Given the description of an element on the screen output the (x, y) to click on. 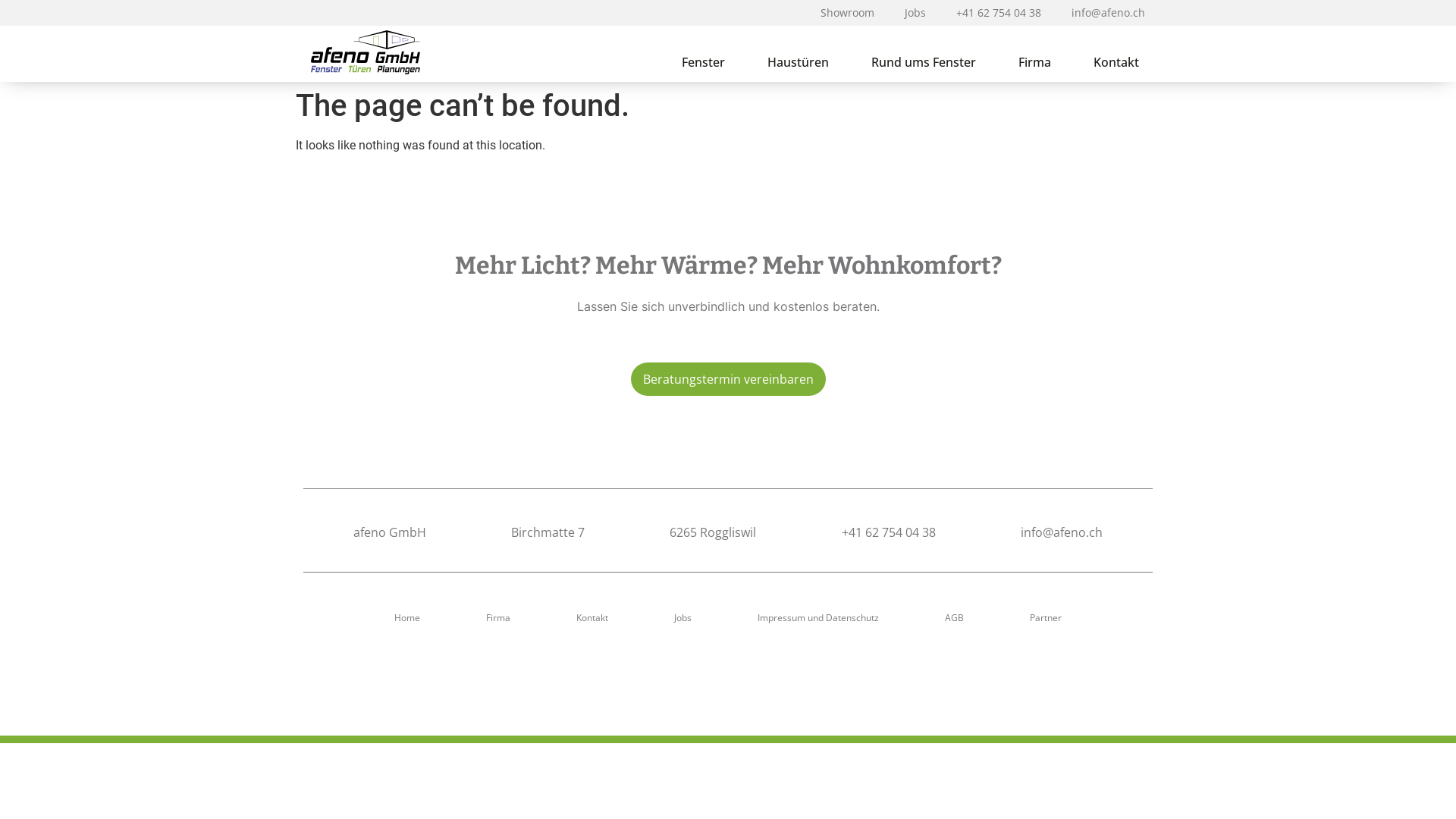
Fenster Element type: text (703, 61)
+41 62 754 04 38 Element type: text (888, 532)
Firma Element type: text (1034, 61)
Kontakt Element type: text (1116, 61)
Partner Element type: text (1045, 618)
Impressum und Datenschutz Element type: text (818, 618)
Home Element type: text (406, 618)
AGB Element type: text (954, 618)
Firma Element type: text (497, 618)
Jobs Element type: text (682, 618)
info@afeno.ch Element type: text (1061, 532)
Beratungstermin vereinbaren Element type: text (727, 378)
Kontakt Element type: text (591, 618)
Rund ums Fenster Element type: text (923, 61)
